Given the description of an element on the screen output the (x, y) to click on. 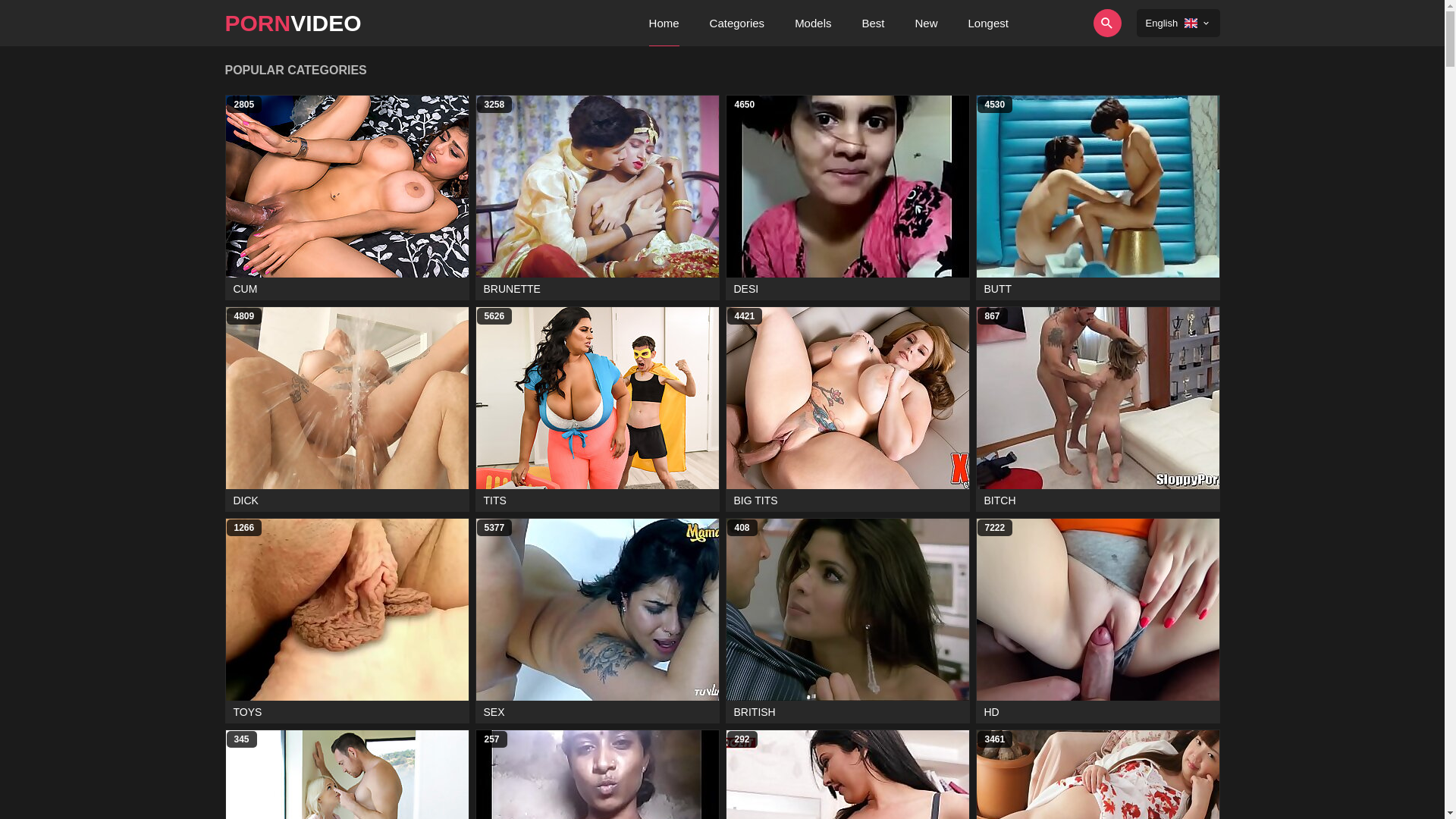
Models Element type: text (812, 22)
7222
HD Element type: text (1097, 620)
5626
TITS Element type: text (596, 408)
408
BRITISH Element type: text (846, 620)
4809
DICK Element type: text (346, 408)
PORNVIDEO Element type: text (292, 23)
4650
DESI Element type: text (846, 197)
New Element type: text (925, 22)
5377
SEX Element type: text (596, 620)
Categories Element type: text (737, 22)
3258
BRUNETTE Element type: text (596, 197)
1266
TOYS Element type: text (346, 620)
2805
CUM Element type: text (346, 197)
Best Element type: text (872, 22)
Home Element type: text (664, 22)
English Element type: text (1178, 23)
867
BITCH Element type: text (1097, 408)
Longest Element type: text (988, 22)
4421
BIG TITS Element type: text (846, 408)
Search Element type: text (1064, 23)
4530
BUTT Element type: text (1097, 197)
